Given the description of an element on the screen output the (x, y) to click on. 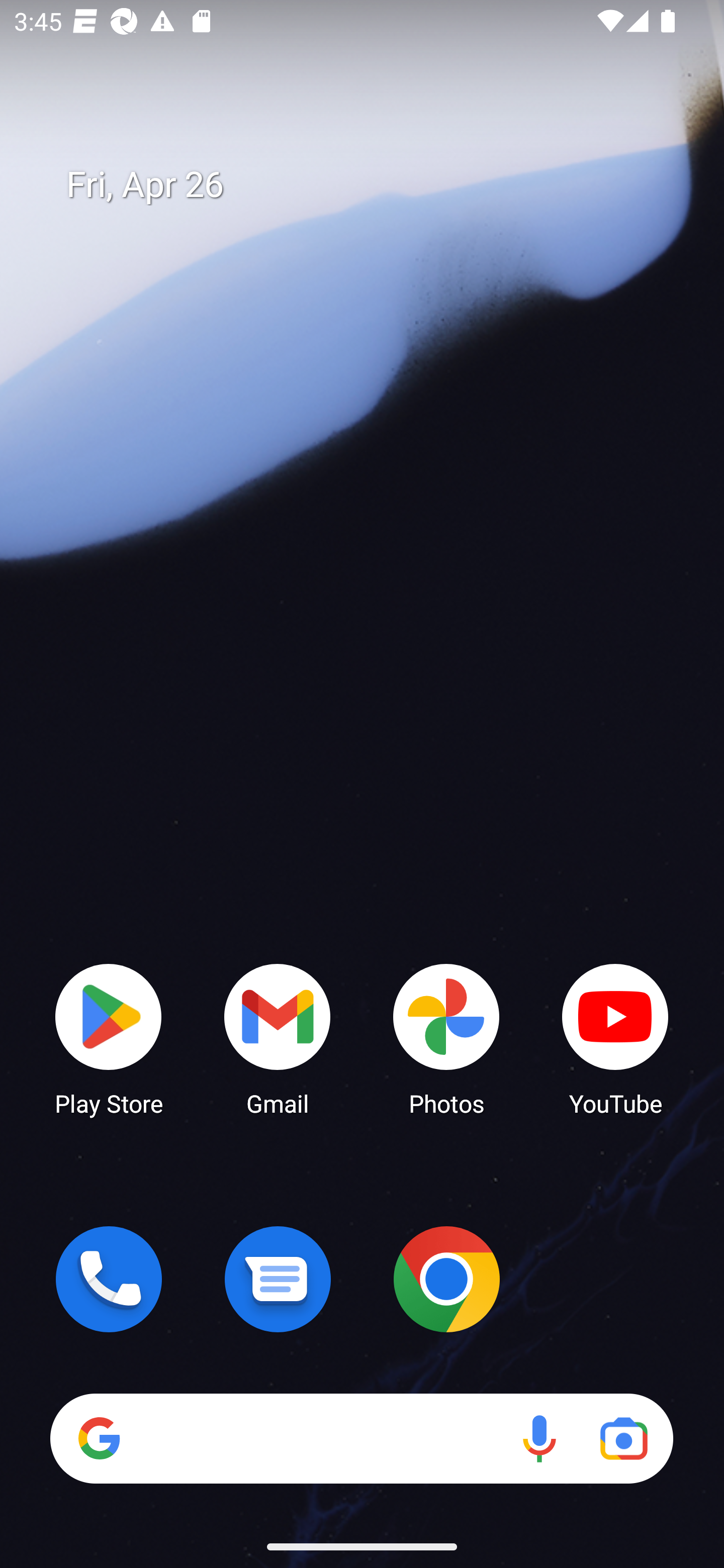
Fri, Apr 26 (375, 184)
Play Store (108, 1038)
Gmail (277, 1038)
Photos (445, 1038)
YouTube (615, 1038)
Phone (108, 1279)
Messages (277, 1279)
Chrome (446, 1279)
Search Voice search Google Lens (361, 1438)
Voice search (539, 1438)
Google Lens (623, 1438)
